Given the description of an element on the screen output the (x, y) to click on. 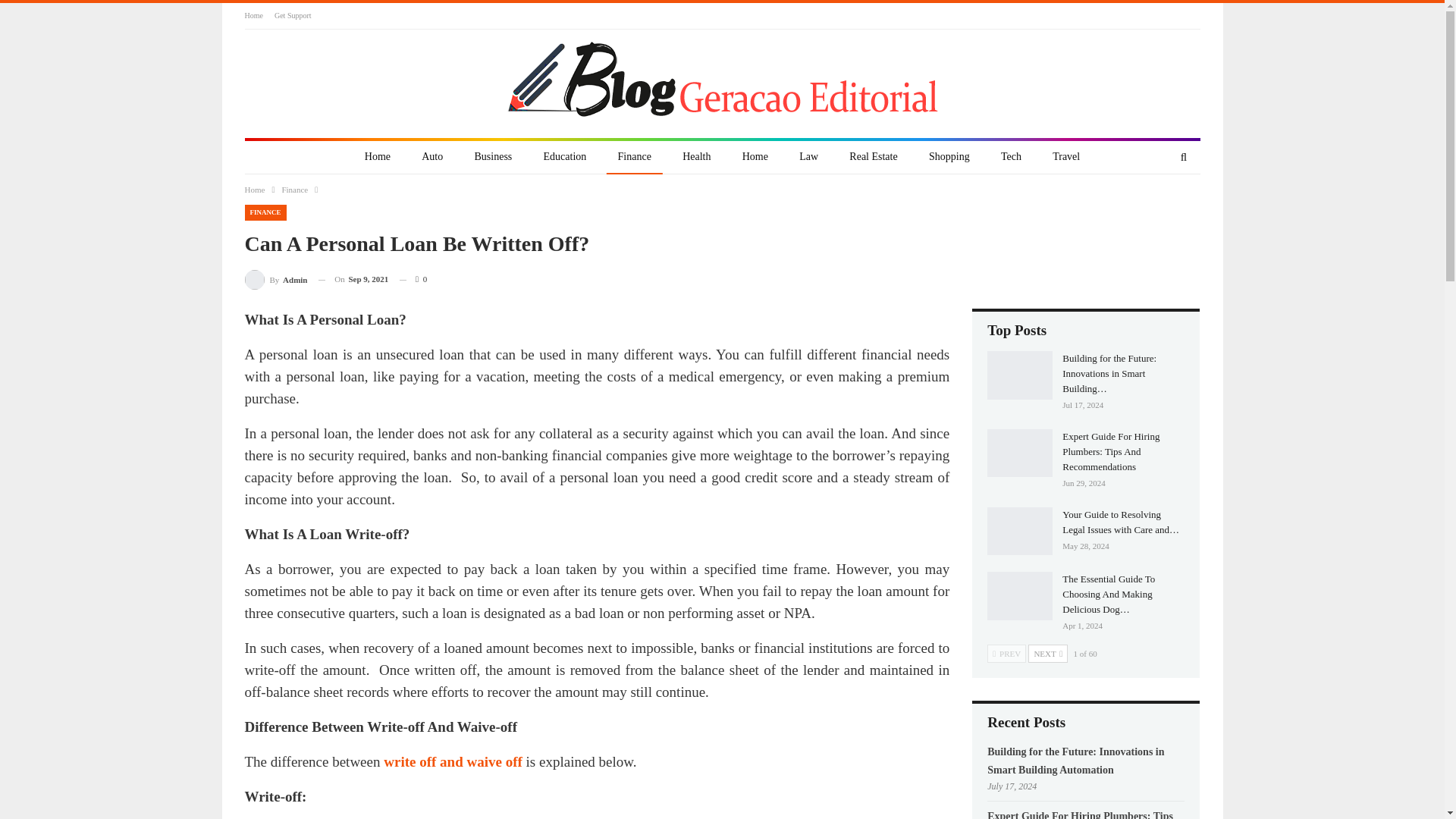
Finance (634, 157)
Home (377, 157)
Tech (1011, 157)
Real Estate (873, 157)
Health (696, 157)
Get Support (293, 15)
Law (808, 157)
FINANCE (264, 212)
Auto (432, 157)
Finance (294, 189)
Home (754, 157)
Browse Author Articles (275, 279)
write off and waive off (453, 761)
By Admin (275, 279)
Travel (1065, 157)
